Given the description of an element on the screen output the (x, y) to click on. 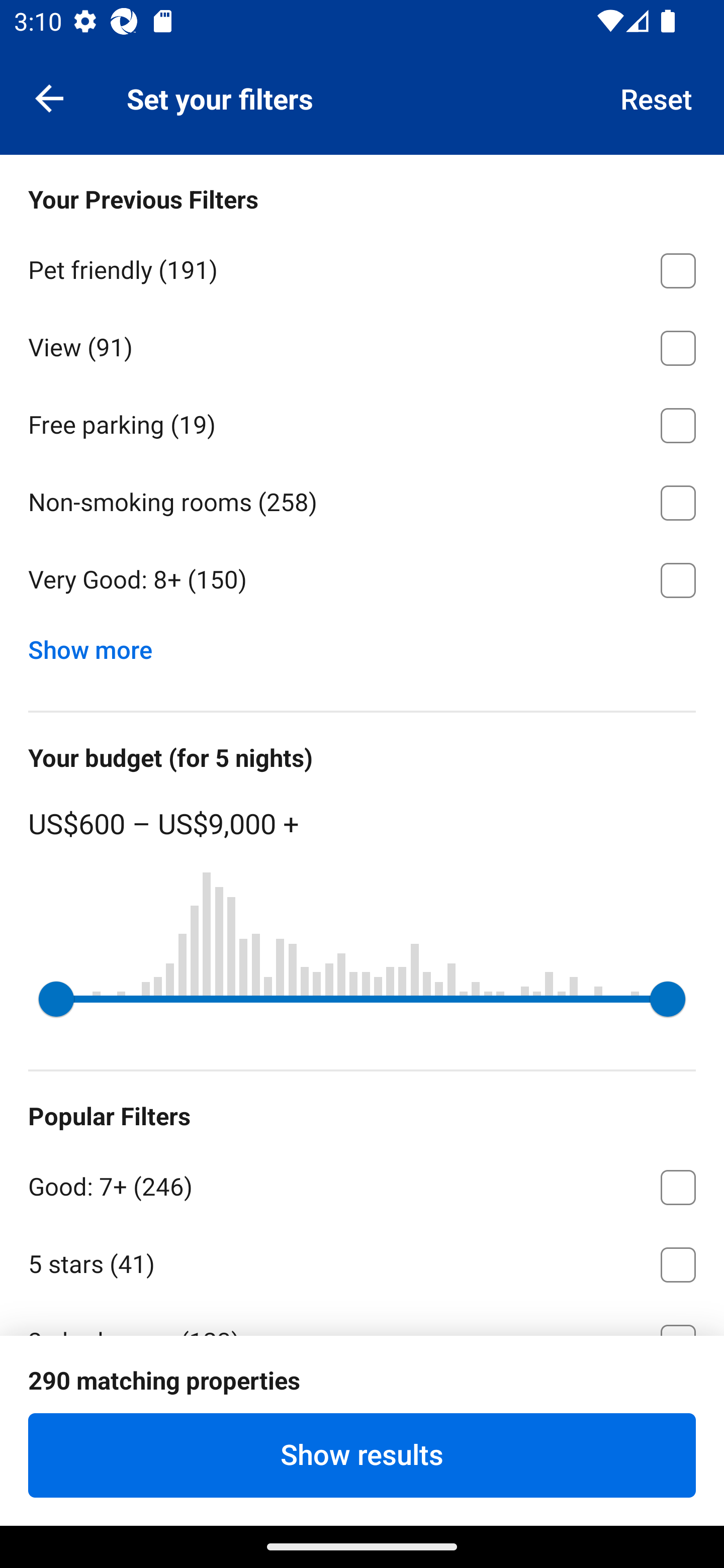
Navigate up (49, 97)
Reset (656, 97)
Pet friendly ⁦(191) (361, 266)
View ⁦(91) (361, 344)
Free parking ⁦(19) (361, 422)
Non-smoking rooms ⁦(258) (361, 498)
Very Good: 8+ ⁦(150) (361, 579)
Show more (97, 645)
Good: 7+ ⁦(246) (361, 1183)
5 stars ⁦(41) (361, 1261)
Show results (361, 1454)
